Given the description of an element on the screen output the (x, y) to click on. 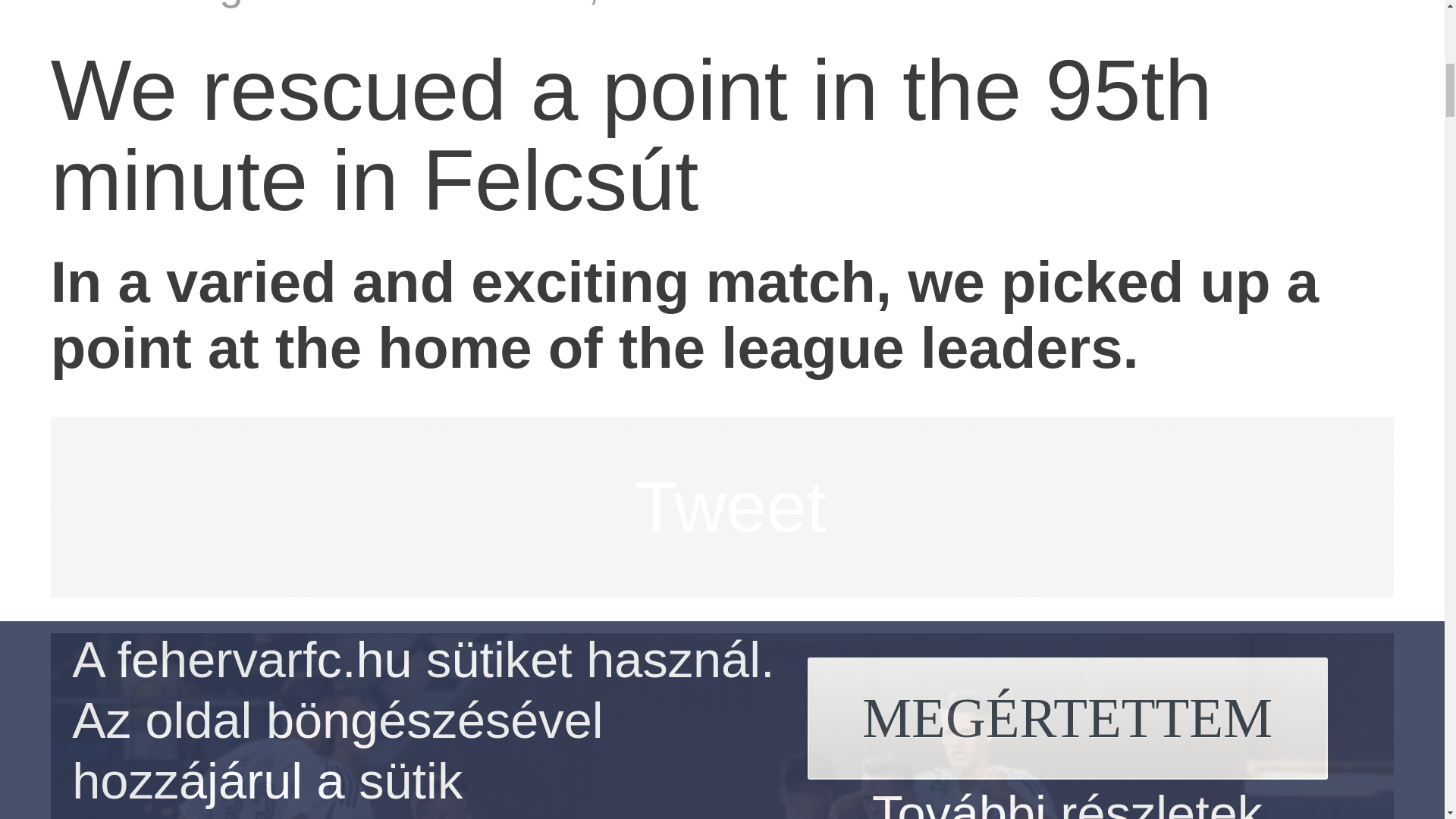
Tweet (730, 506)
